Given the description of an element on the screen output the (x, y) to click on. 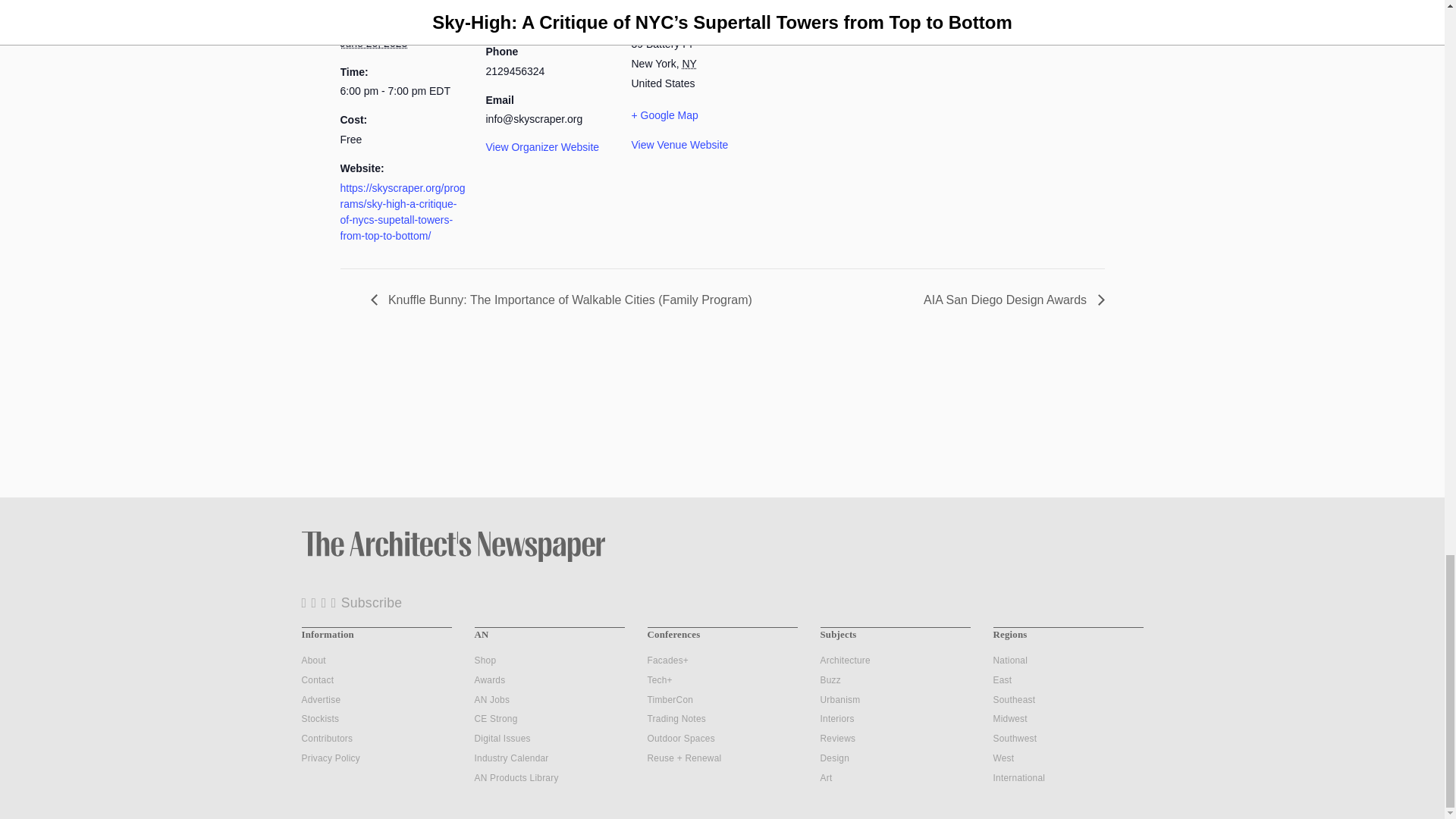
Click to view a Google Map (694, 115)
2023-06-20 (403, 91)
New York (688, 63)
2023-06-20 (373, 42)
The Skyscraper Museum (544, 22)
